Given the description of an element on the screen output the (x, y) to click on. 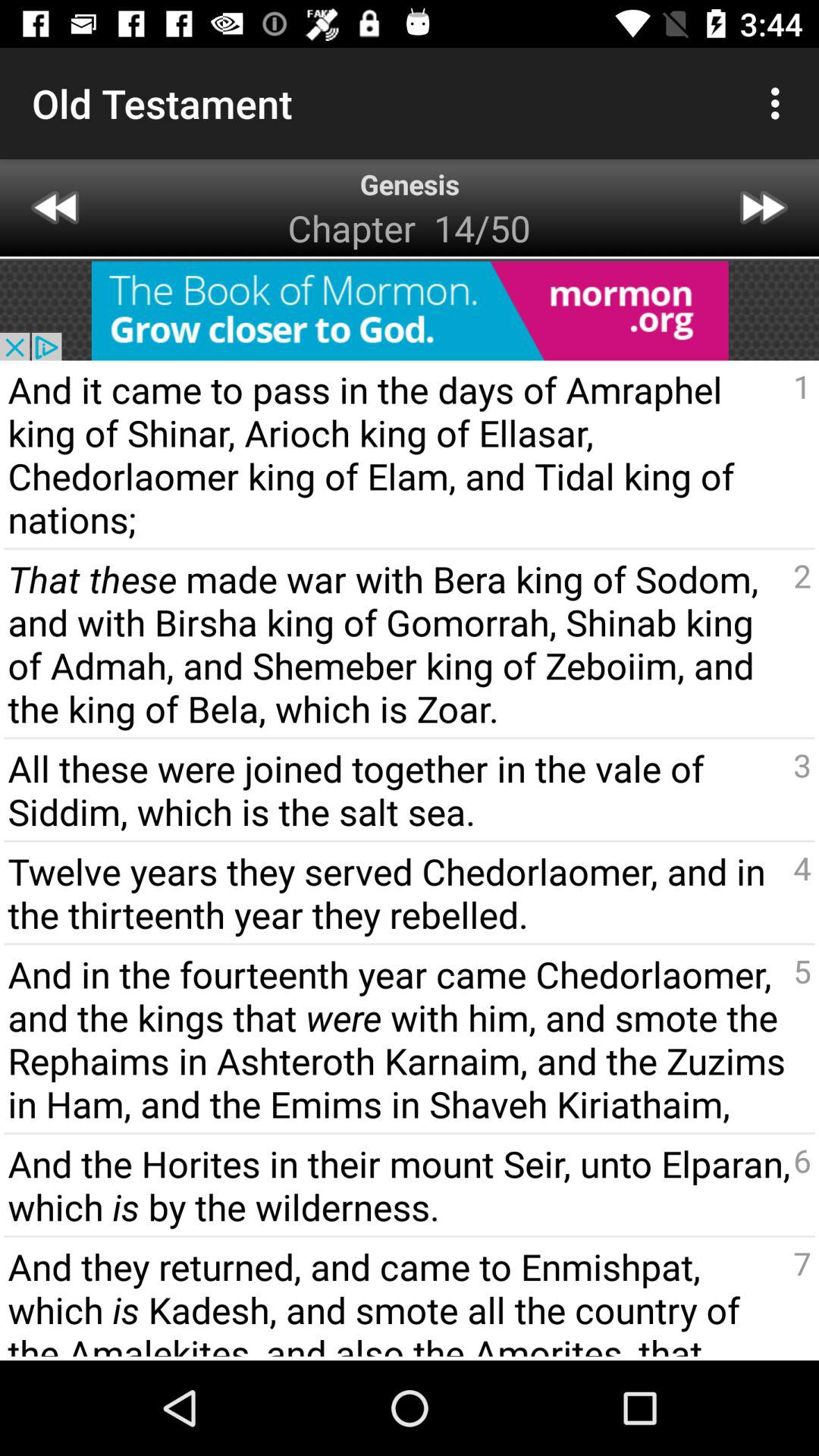
go to site (409, 310)
